Given the description of an element on the screen output the (x, y) to click on. 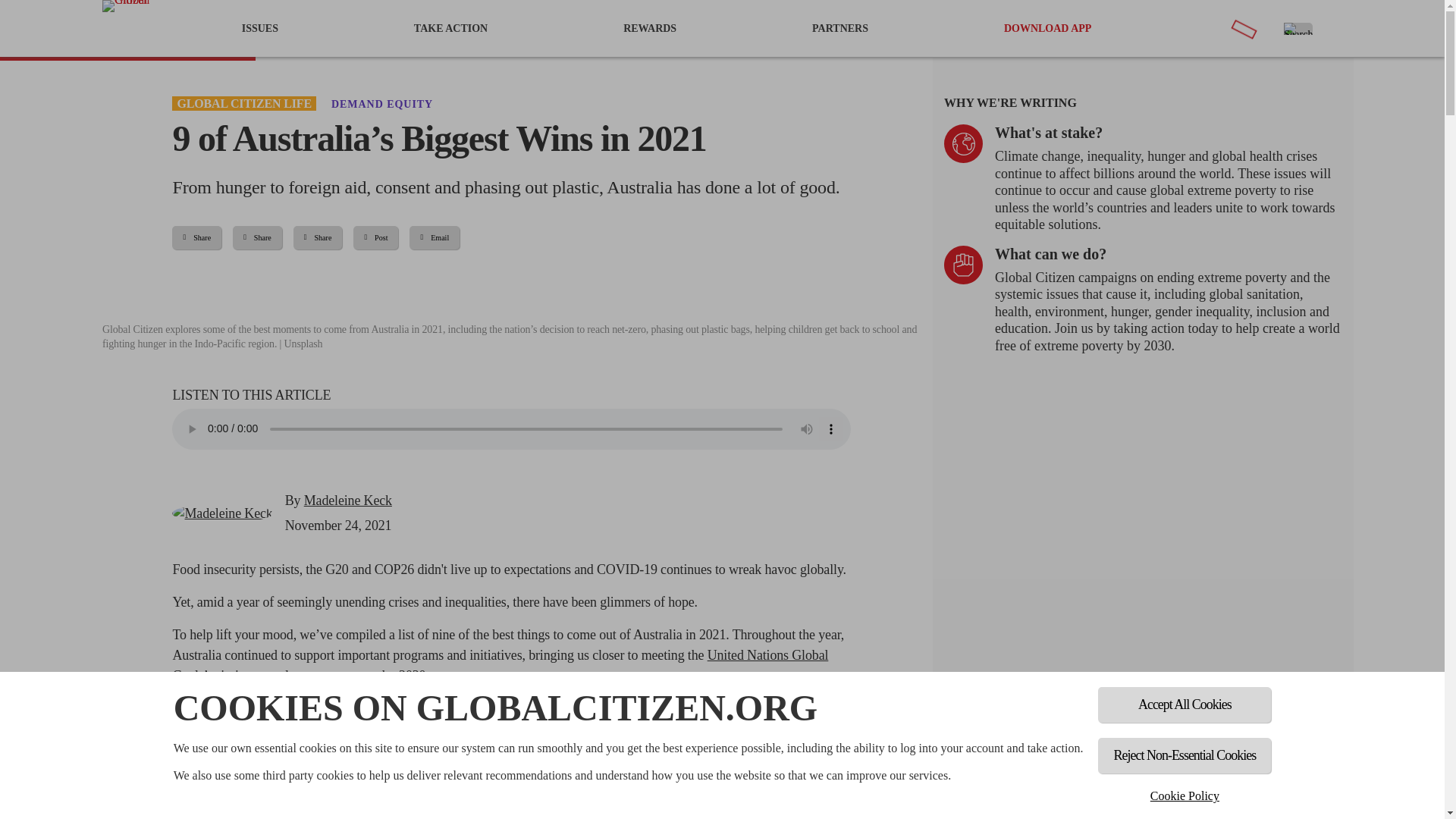
PARTNERS (839, 28)
Share (196, 237)
ISSUES (259, 28)
REWARDS (649, 28)
Madeleine Keck (347, 500)
Email (434, 237)
United Nations Global Goals (499, 665)
DOWNLOAD APP (1047, 28)
Demand Equity (381, 103)
TAKE ACTION (451, 28)
Post (375, 237)
DEMAND EQUITY (381, 103)
Share (257, 237)
Madeleine Keck (221, 513)
Share (318, 237)
